Given the description of an element on the screen output the (x, y) to click on. 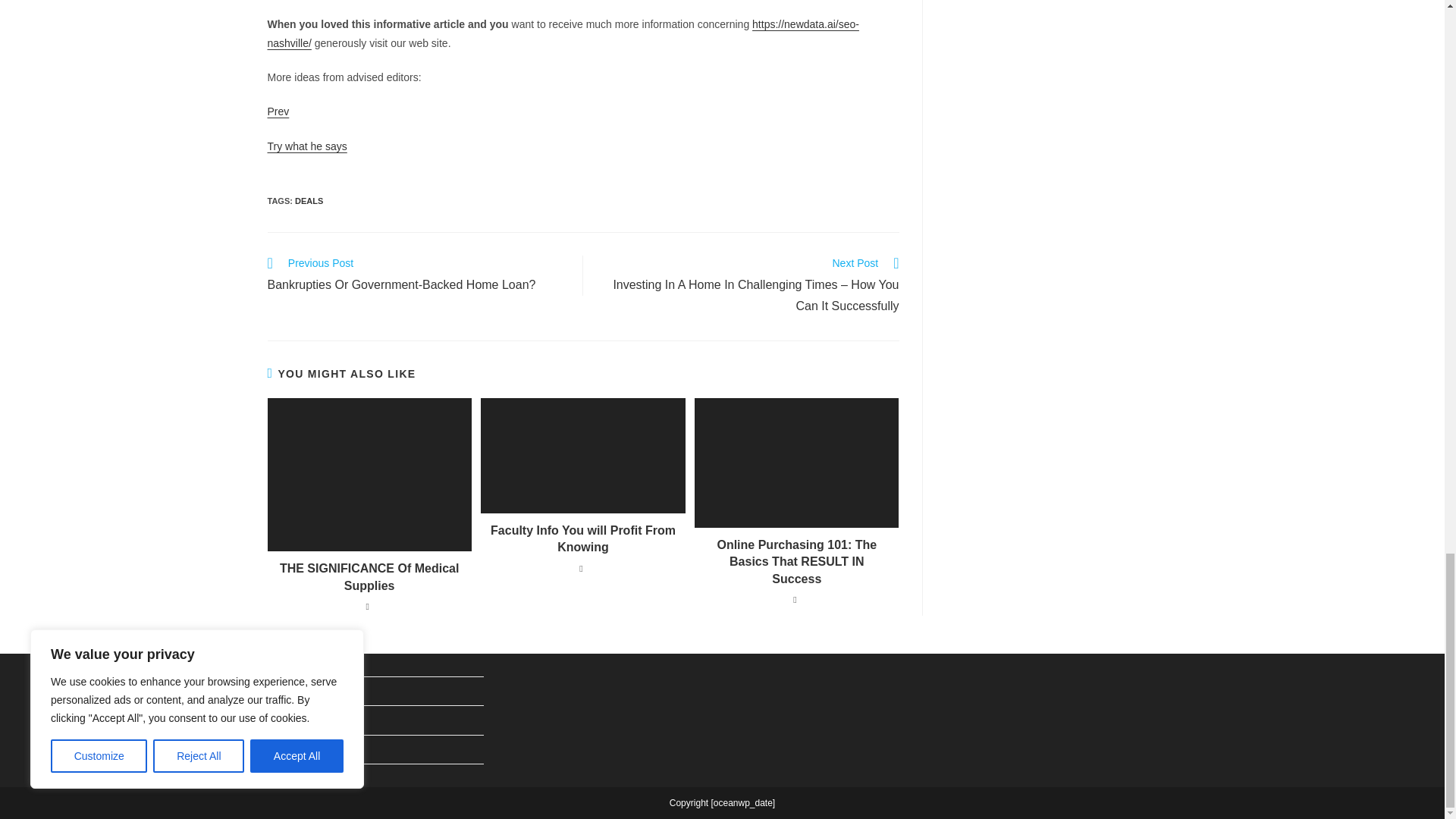
THE SIGNIFICANCE Of Medical Supplies (368, 577)
DEALS (309, 200)
Prev (416, 275)
Try what he says (277, 111)
